Given the description of an element on the screen output the (x, y) to click on. 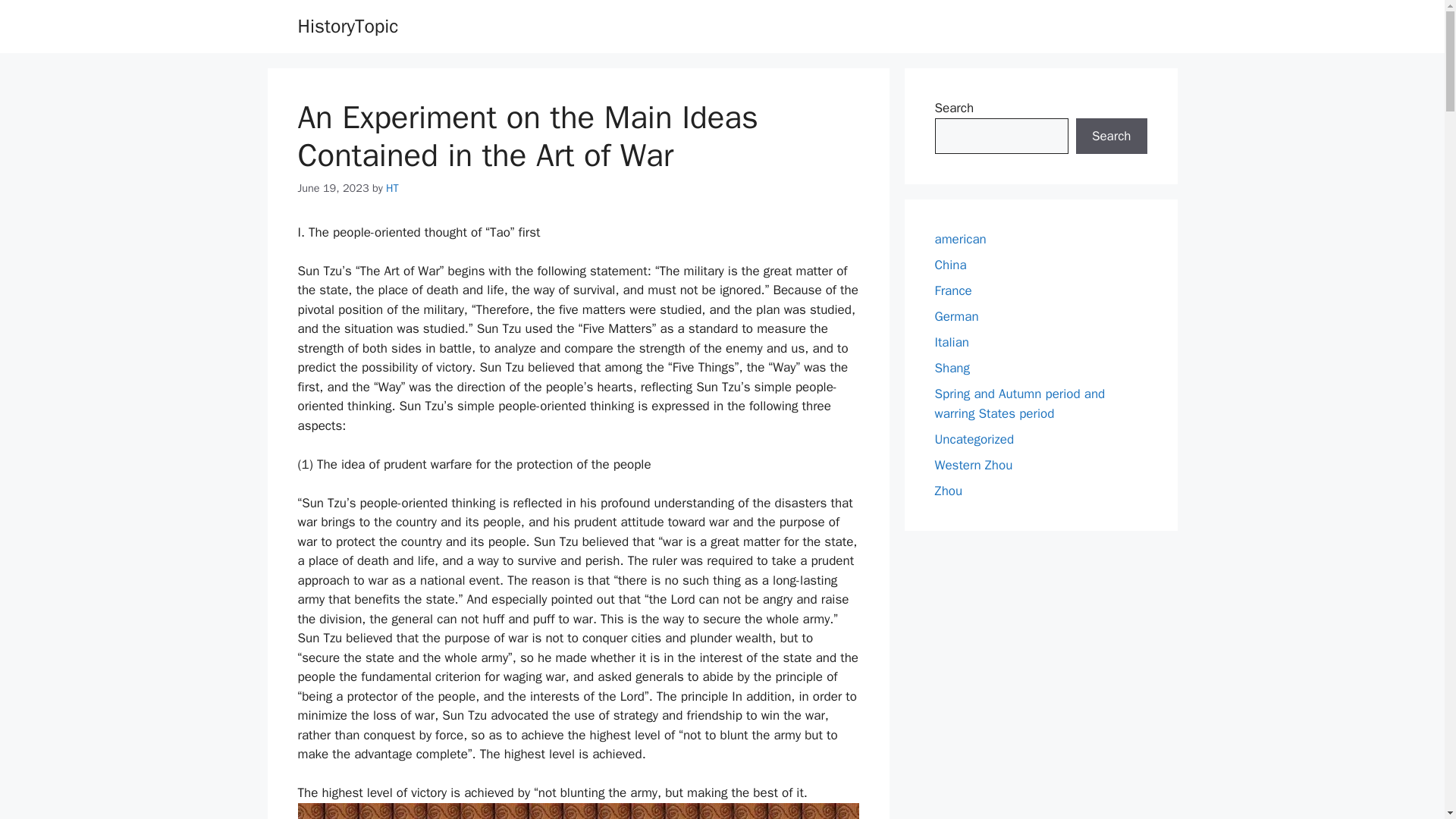
Italian (951, 342)
HistoryTopic (347, 25)
Uncategorized (973, 438)
Western Zhou (972, 464)
HT (391, 187)
France (952, 290)
Zhou (948, 489)
Shang (951, 367)
american (959, 238)
Search (1111, 135)
German (956, 316)
China (950, 264)
Spring and Autumn period and warring States period (1019, 403)
View all posts by HT (391, 187)
